Given the description of an element on the screen output the (x, y) to click on. 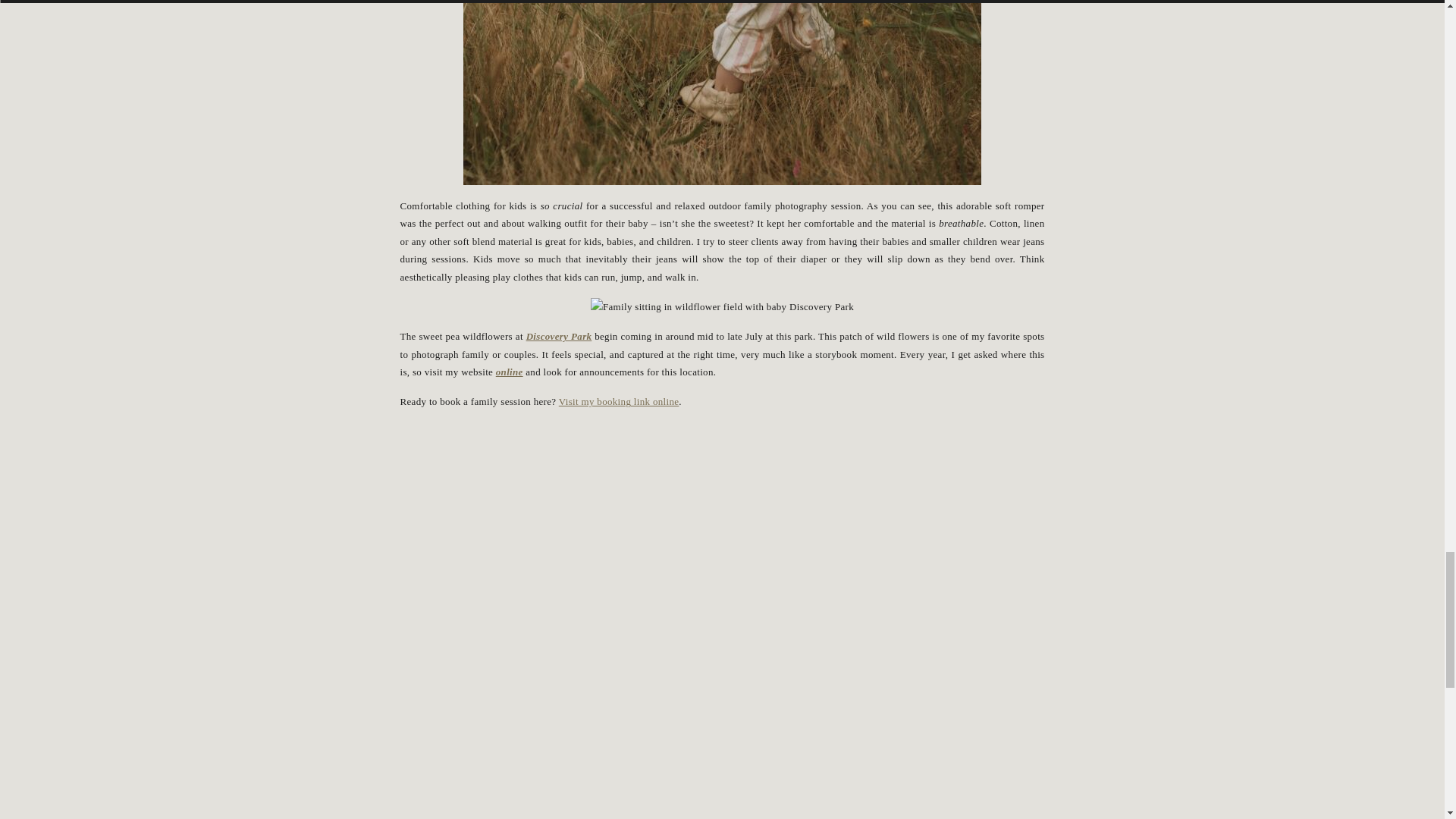
online (509, 371)
Discovery Park (558, 336)
Visit my booking link online (619, 401)
